Given the description of an element on the screen output the (x, y) to click on. 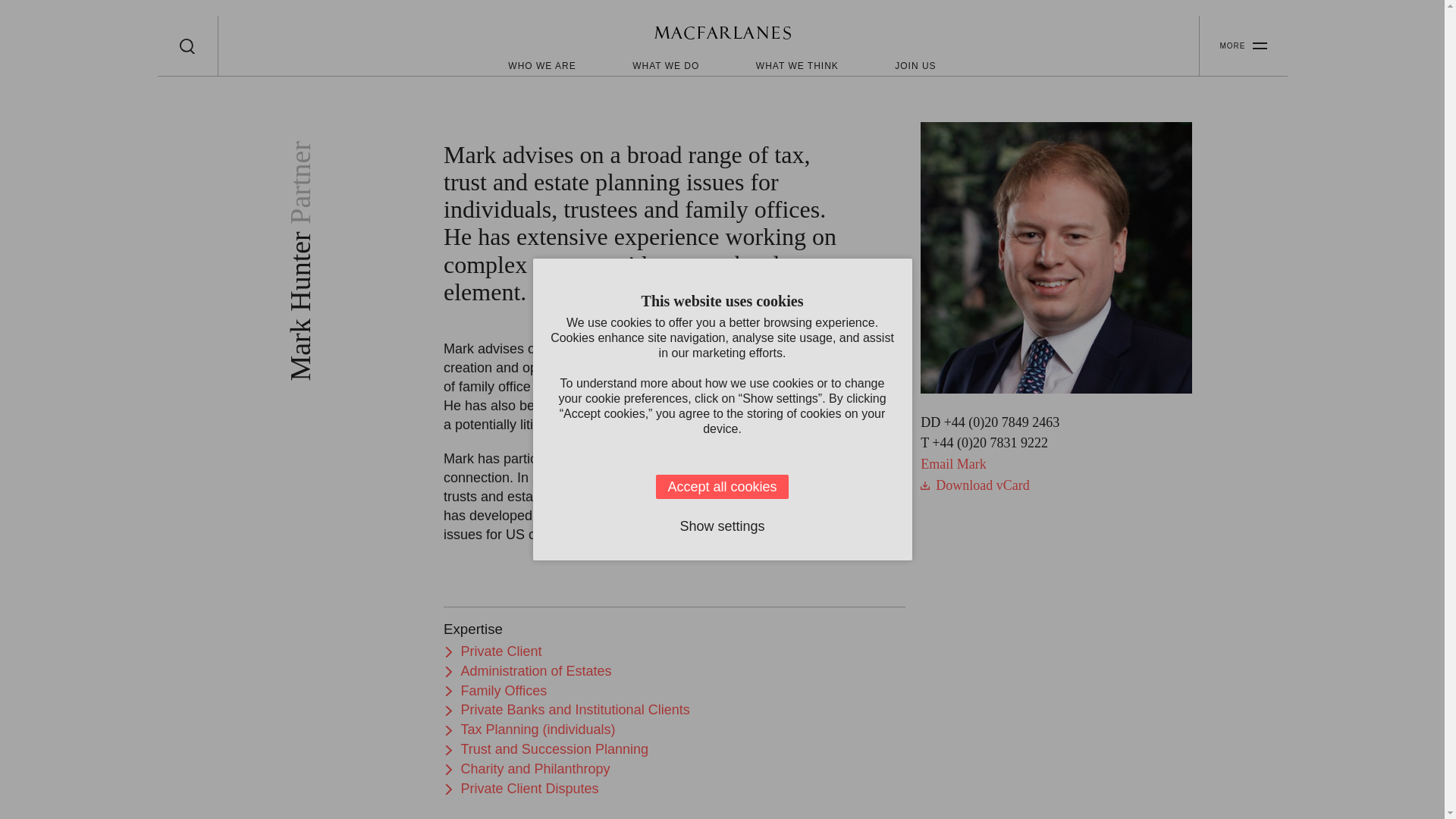
WHO WE ARE (541, 65)
WHAT WE DO (664, 65)
WHAT WE THINK (796, 65)
MACFARLANES (721, 35)
Search (187, 46)
